Given the description of an element on the screen output the (x, y) to click on. 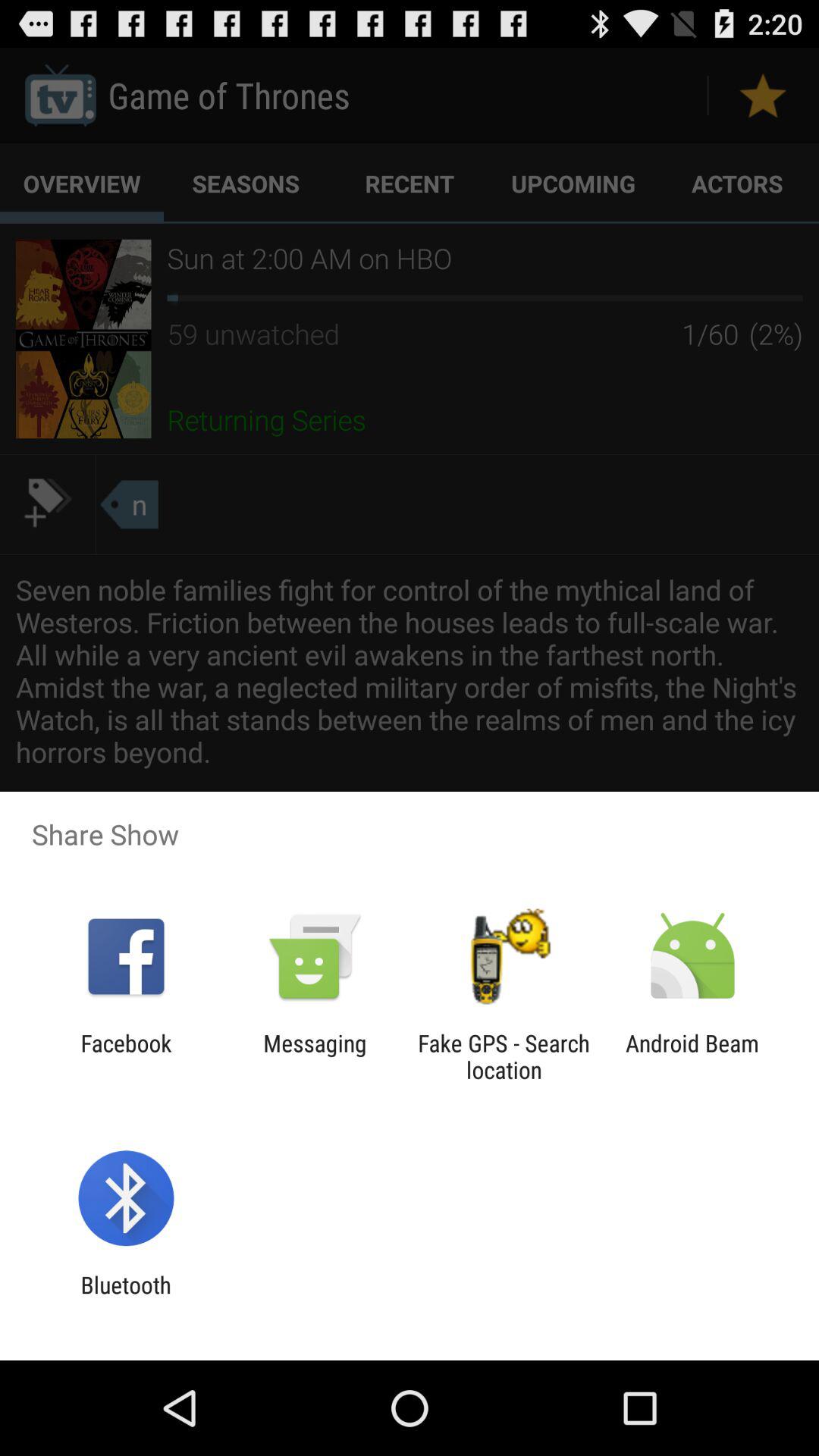
jump to the messaging item (314, 1056)
